Given the description of an element on the screen output the (x, y) to click on. 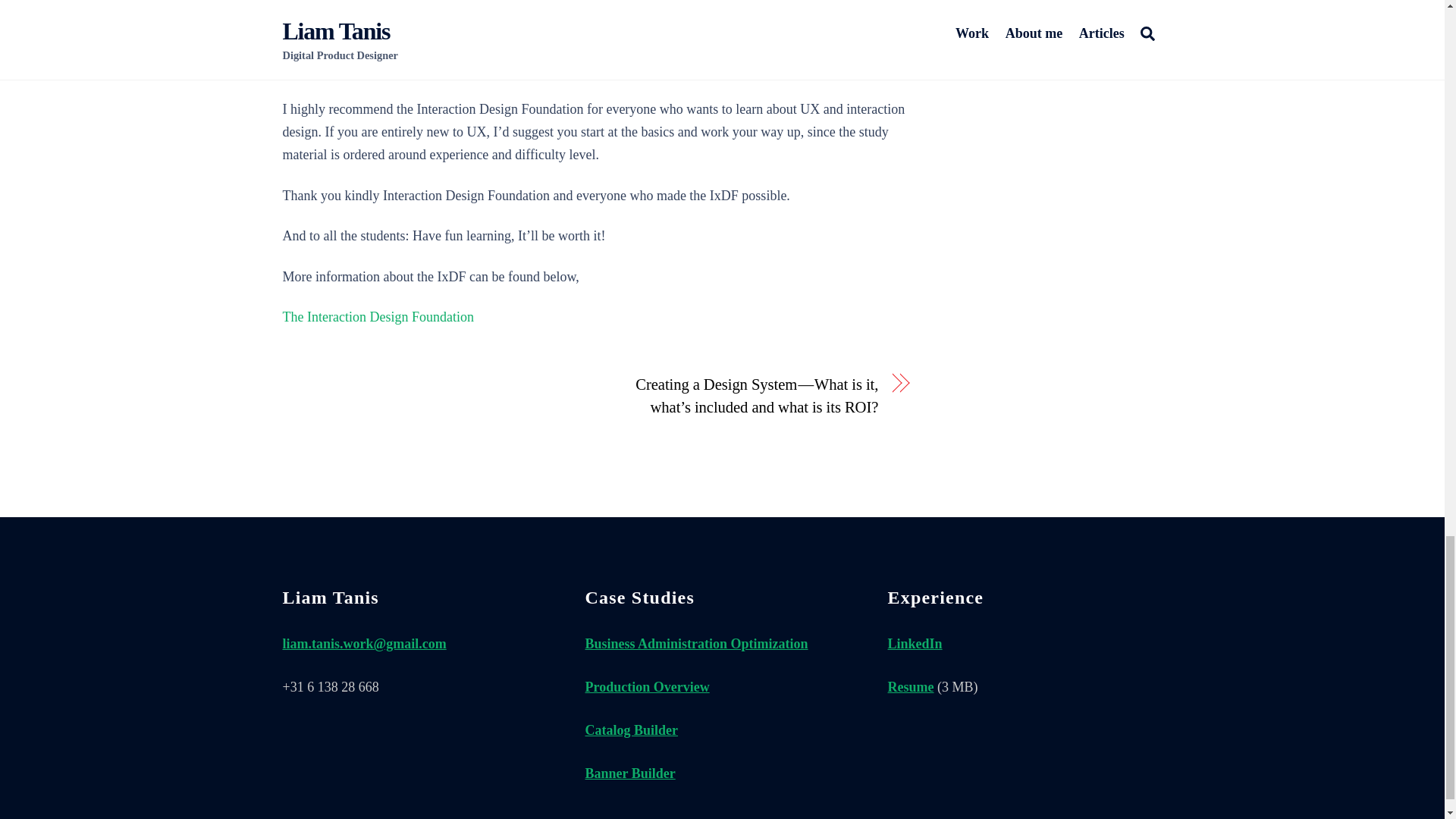
Banner Builder (630, 773)
LinkedIn (915, 643)
Resume (911, 686)
Business Administration Optimization (696, 643)
Catalog Builder (631, 729)
Production Overview (647, 686)
The Interaction Design Foundation (377, 316)
